Given the description of an element on the screen output the (x, y) to click on. 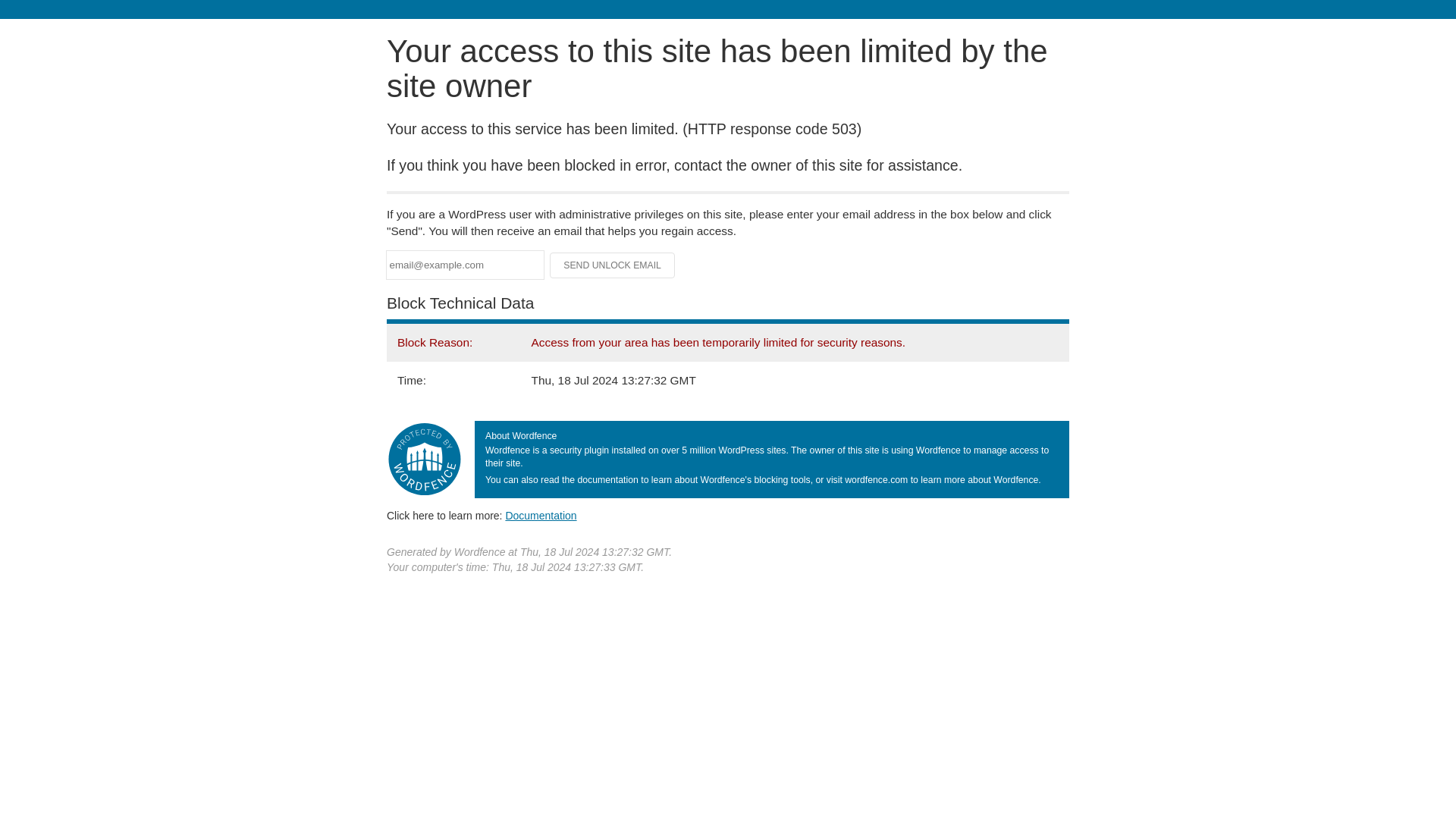
Send Unlock Email (612, 265)
Documentation (540, 515)
Send Unlock Email (612, 265)
